Given the description of an element on the screen output the (x, y) to click on. 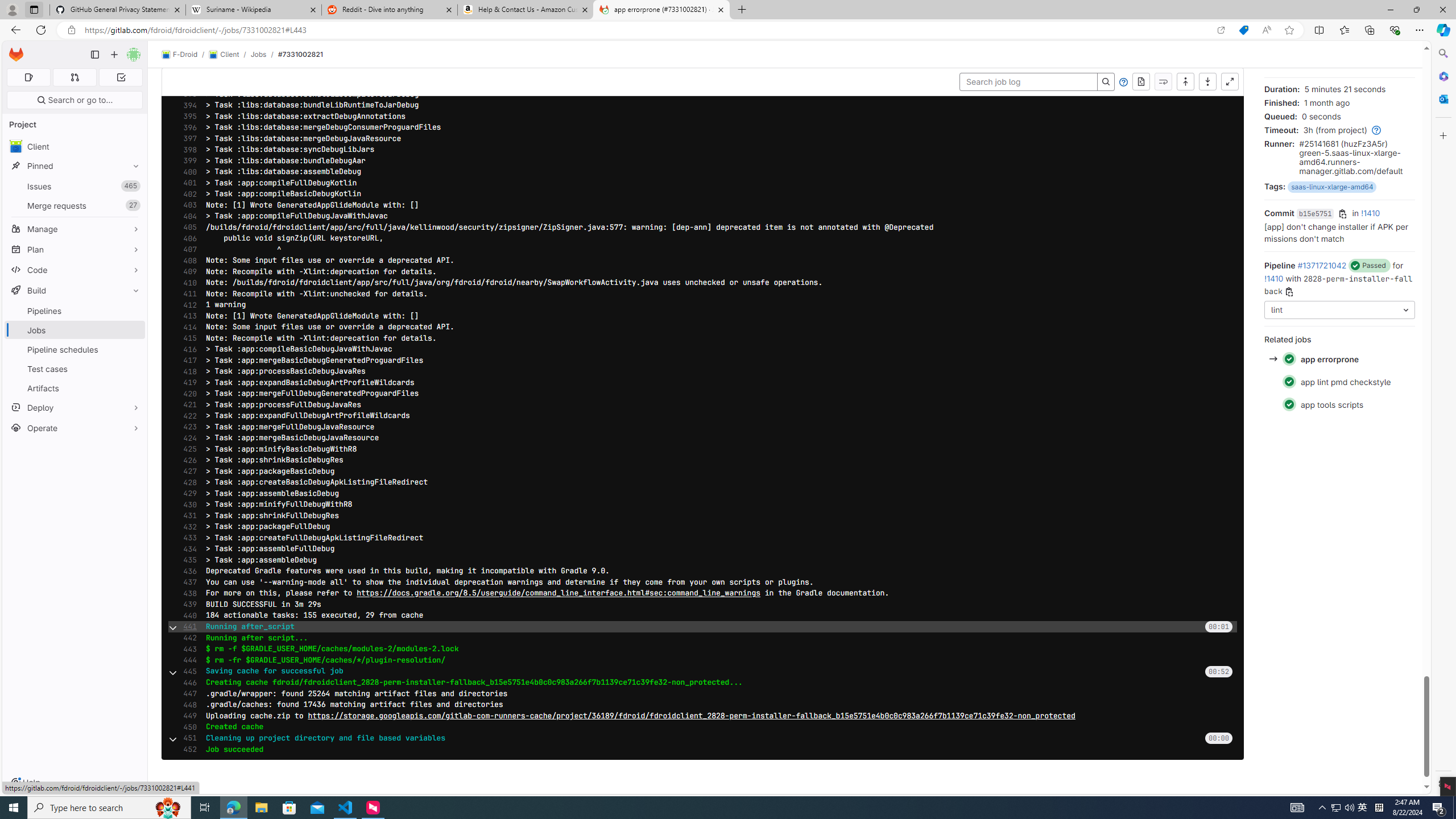
Status: Passed app tools scripts (1338, 404)
Shopping in Microsoft Edge (1243, 29)
GitHub General Privacy Statement - GitHub Docs (117, 9)
Pipeline schedules (74, 348)
424 (186, 437)
406 (186, 238)
447 (186, 693)
Skip to main content (13, 49)
Pipelines (74, 310)
425 (186, 449)
440 (186, 615)
